Given the description of an element on the screen output the (x, y) to click on. 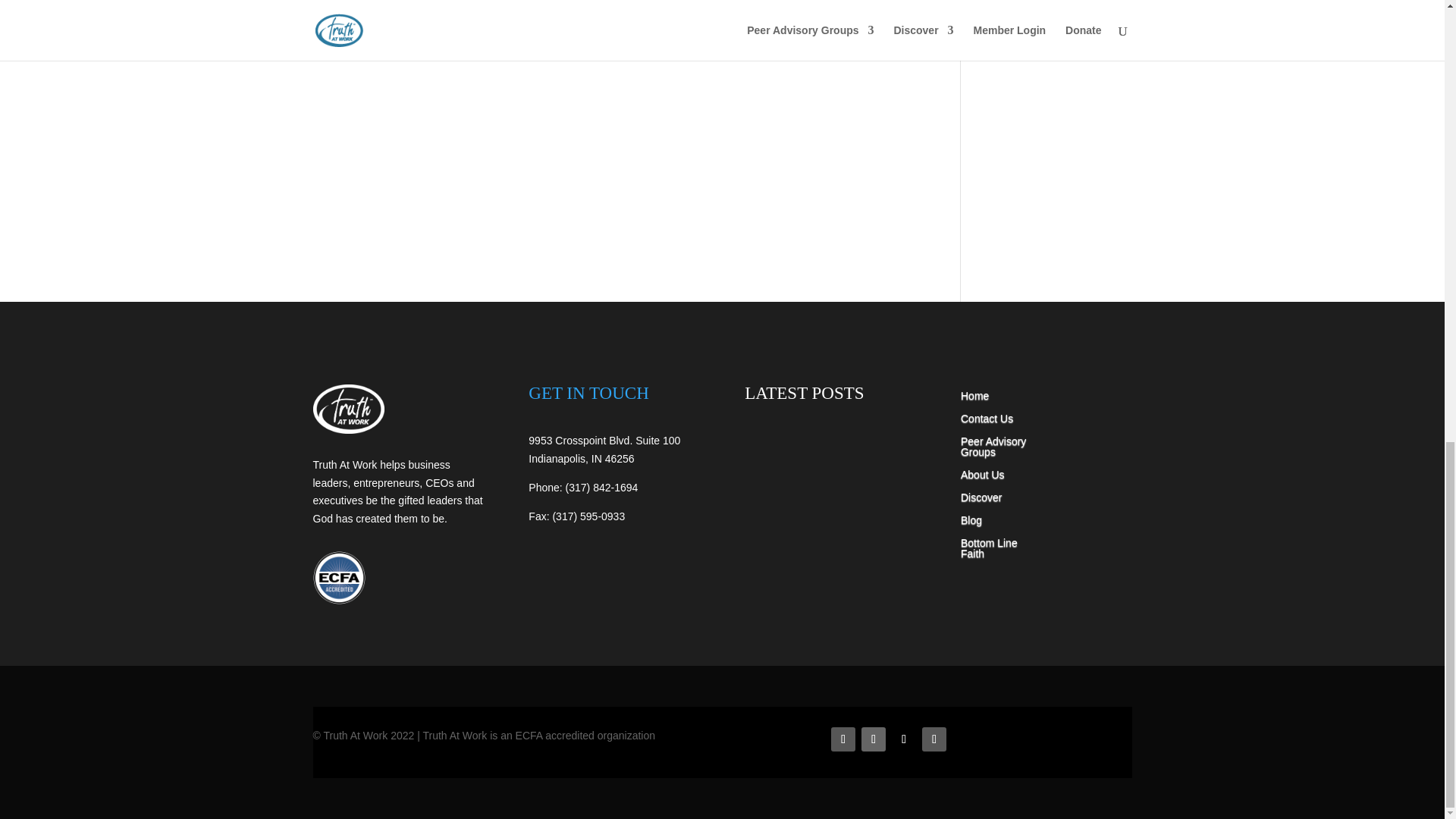
Follow on Facebook (843, 739)
Follow on LinkedIn (873, 739)
Follow on Instagram (933, 739)
Follow on X (903, 739)
